Given the description of an element on the screen output the (x, y) to click on. 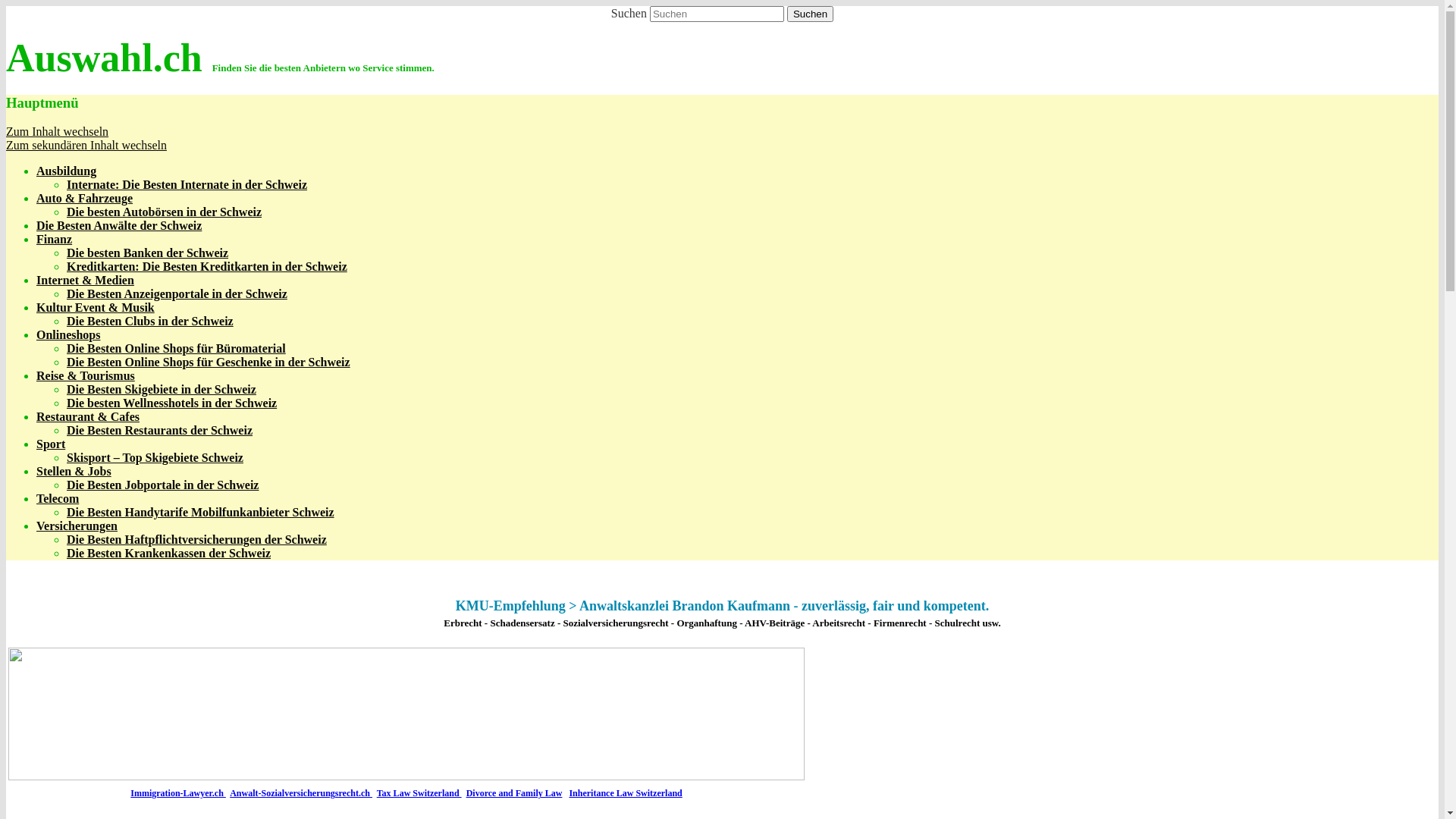
Suchen Element type: text (810, 13)
Die Besten Krankenkassen der Schweiz Element type: text (168, 552)
Die Besten Handytarife Mobilfunkanbieter Schweiz Element type: text (200, 511)
Zum Inhalt wechseln Element type: text (57, 131)
Divorce and Family Law Element type: text (514, 792)
Stellen & Jobs Element type: text (73, 470)
Onlineshops Element type: text (68, 334)
Finanz Element type: text (54, 238)
Inheritance Law Switzerland Element type: text (624, 792)
Anwalt-Sozialversicherungsrecht.ch Element type: text (300, 792)
Die Besten Haftpflichtversicherungen der Schweiz Element type: text (196, 539)
Reise & Tourismus Element type: text (85, 375)
Die Besten Jobportale in der Schweiz Element type: text (162, 484)
Internet & Medien Element type: text (85, 279)
Die Besten Skigebiete in der Schweiz Element type: text (161, 388)
Die besten Banken der Schweiz Element type: text (147, 252)
Tax Law Switzerland Element type: text (418, 792)
Die Besten Anzeigenportale in der Schweiz Element type: text (176, 293)
Internate: Die Besten Internate in der Schweiz Element type: text (186, 184)
Kultur Event & Musik Element type: text (95, 307)
Kreditkarten: Die Besten Kreditkarten in der Schweiz Element type: text (206, 266)
Die Besten Clubs in der Schweiz Element type: text (149, 320)
Die besten Wellnesshotels in der Schweiz Element type: text (171, 402)
Immigration-Lawyer.ch Element type: text (177, 792)
Versicherungen Element type: text (76, 525)
Sport Element type: text (50, 443)
Restaurant & Cafes Element type: text (87, 416)
Die Besten Restaurants der Schweiz Element type: text (159, 429)
Telecom Element type: text (57, 498)
Auto & Fahrzeuge Element type: text (84, 197)
Ausbildung Element type: text (66, 170)
